Given the description of an element on the screen output the (x, y) to click on. 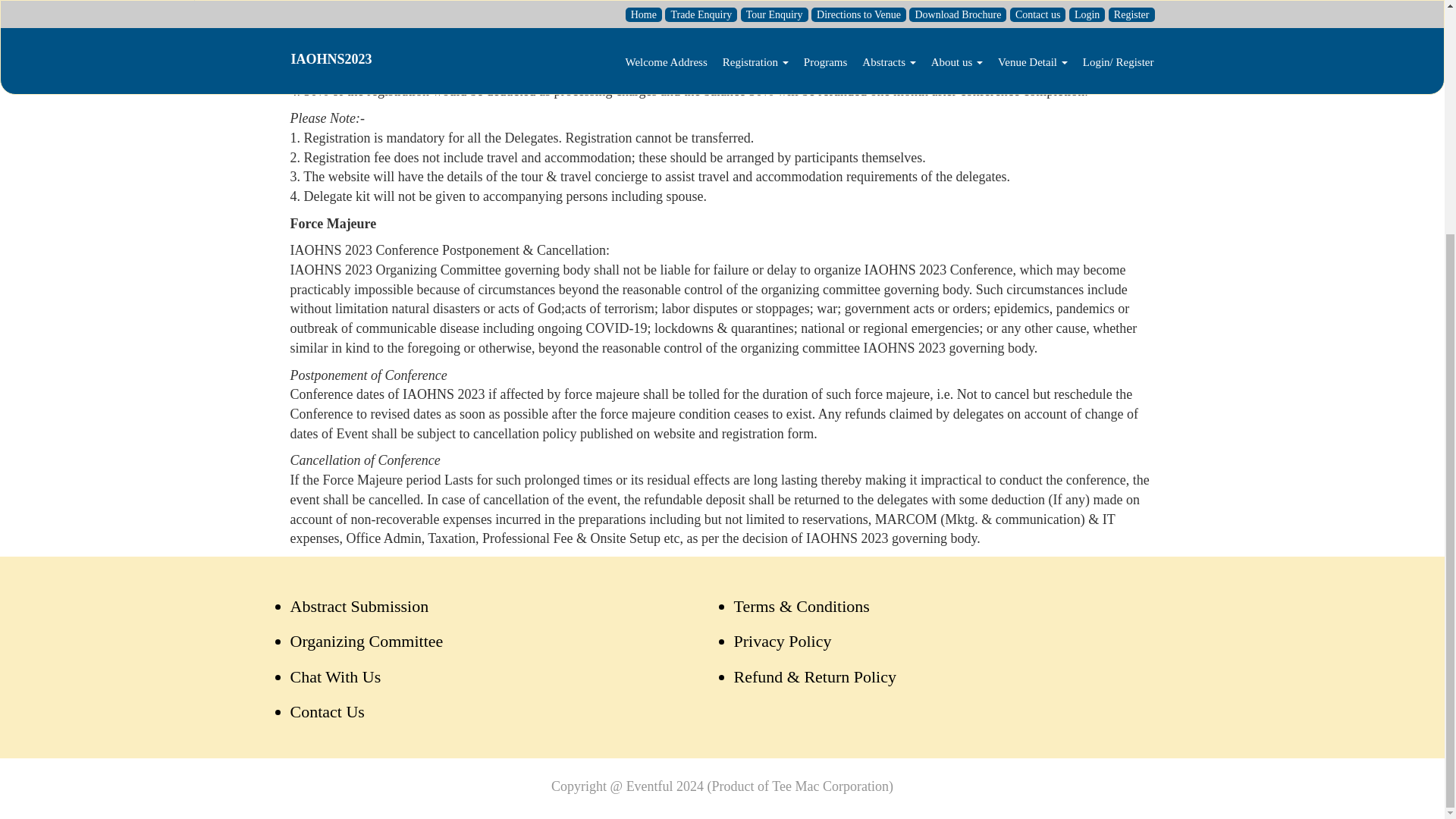
Abstract Submission (358, 606)
